Given the description of an element on the screen output the (x, y) to click on. 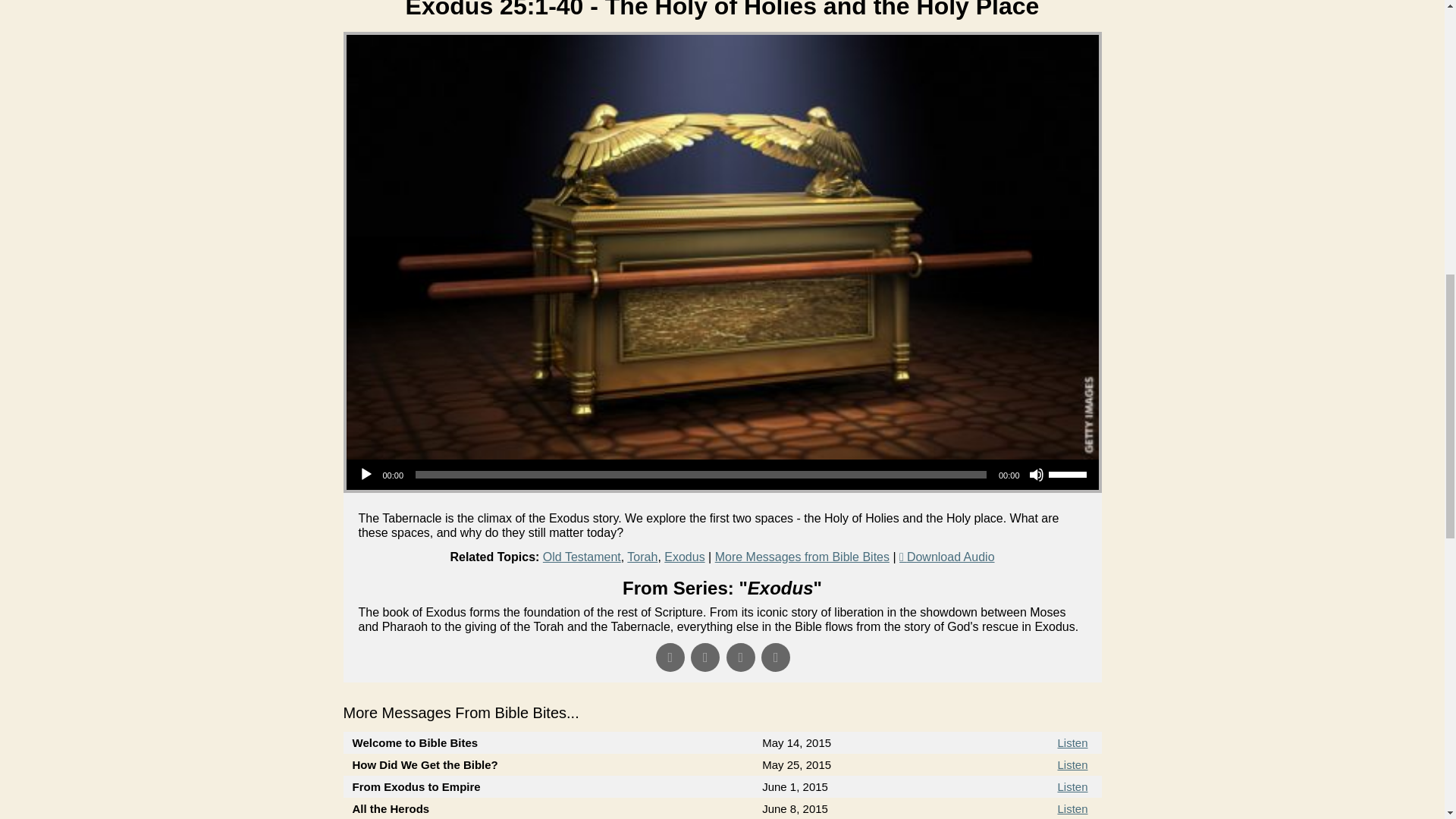
Play (365, 474)
Mute (1035, 474)
